Given the description of an element on the screen output the (x, y) to click on. 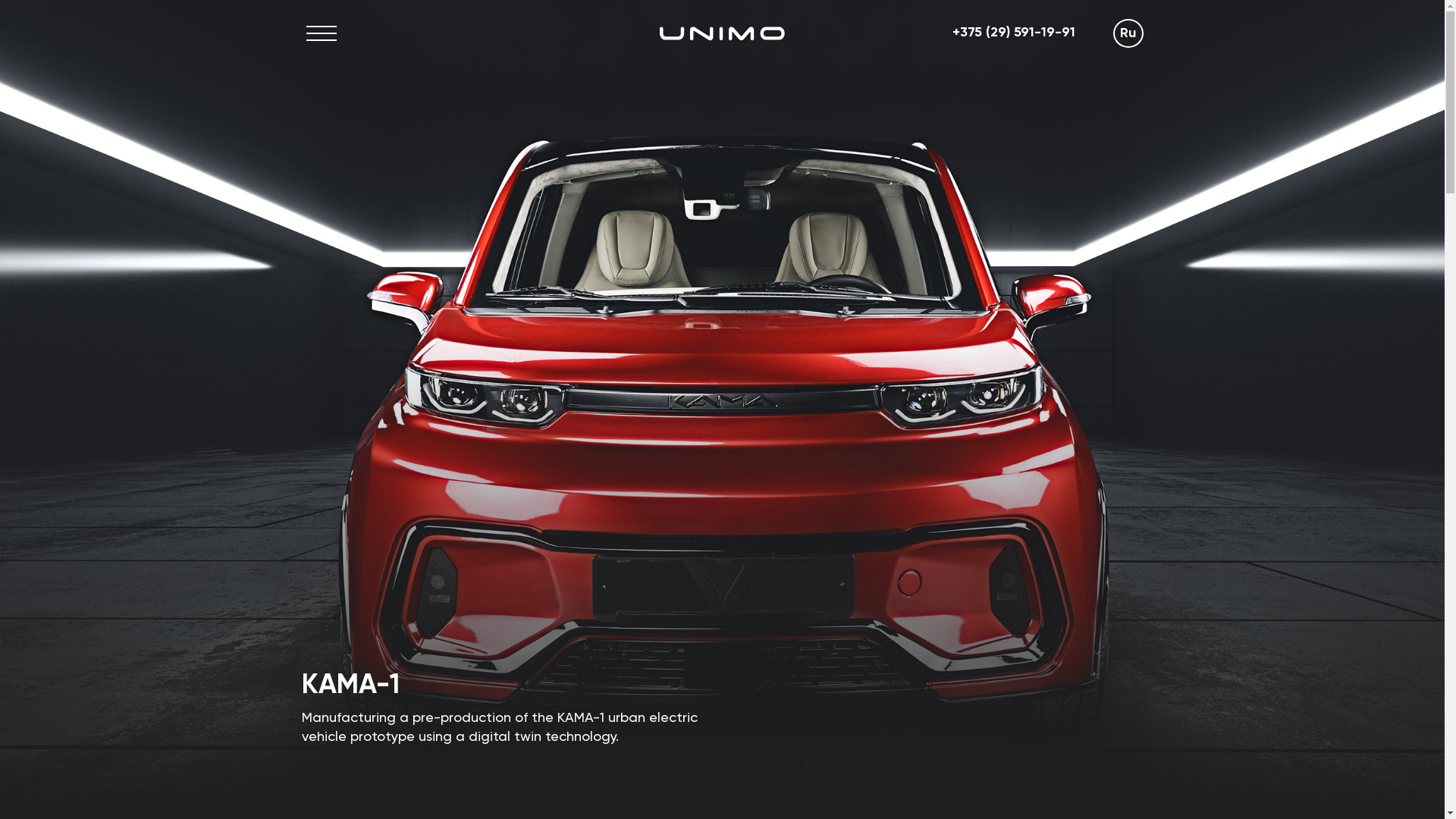
Ru Element type: text (1128, 32)
+375 (29) 591-19-91 Element type: text (1013, 32)
